Given the description of an element on the screen output the (x, y) to click on. 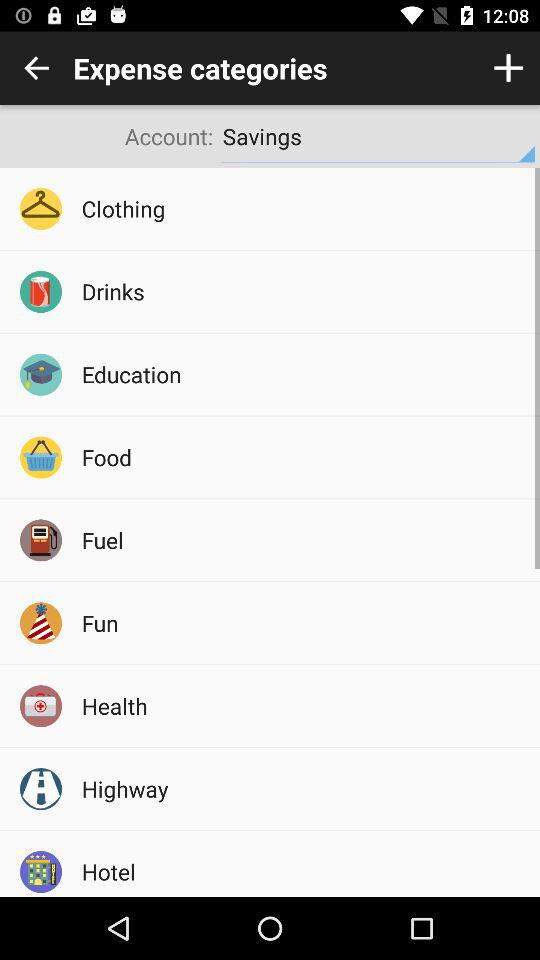
click icon above the fuel item (303, 457)
